Given the description of an element on the screen output the (x, y) to click on. 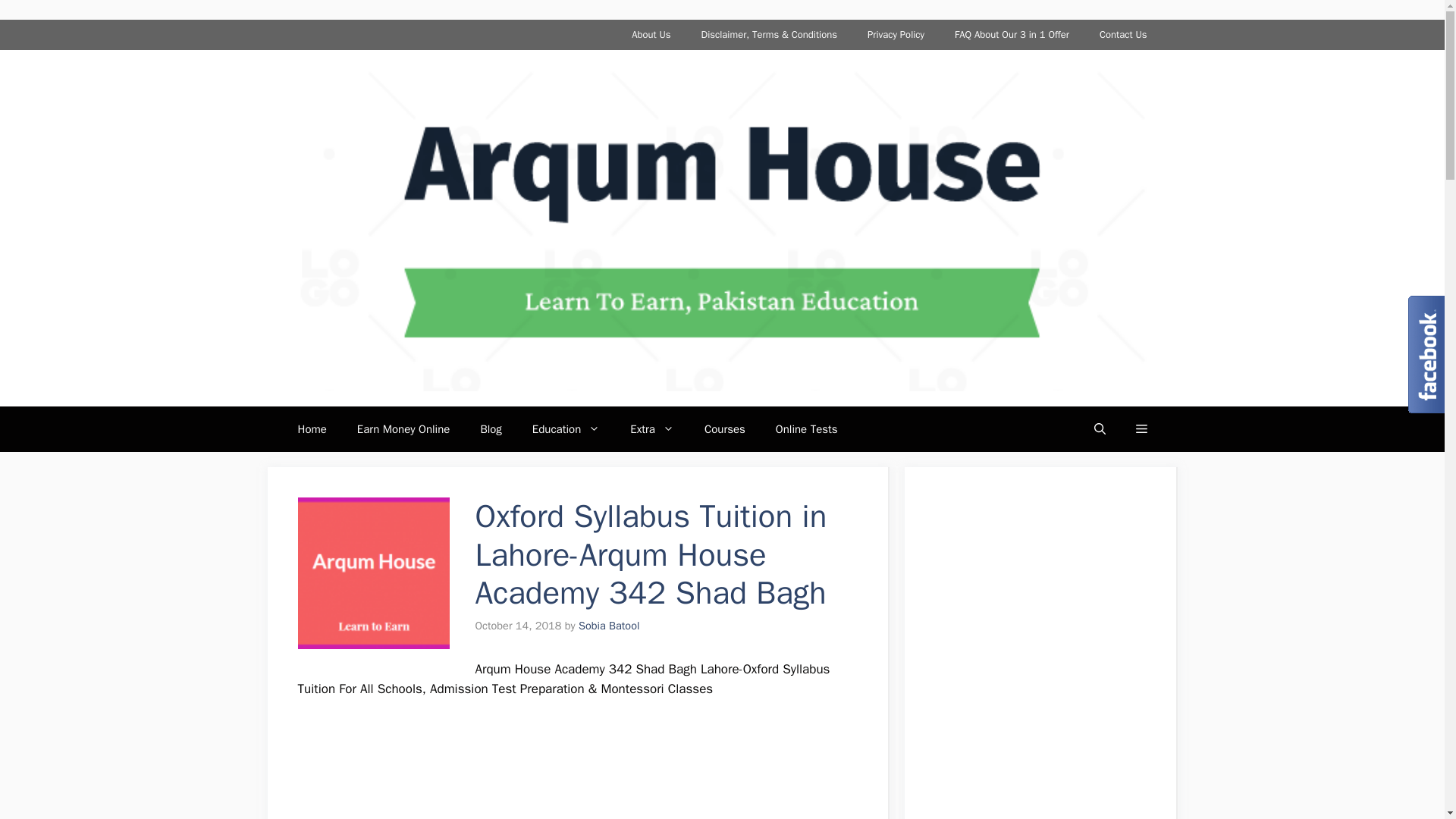
Sobia Batool (608, 625)
View all posts by Sobia Batool (608, 625)
Home (311, 429)
Privacy Policy (895, 34)
FAQ About Our 3 in 1 Offer (1011, 34)
Earn Money Online (403, 429)
Blog (490, 429)
Education (565, 429)
About Us (650, 34)
Advertisement (1031, 658)
Contact Us (1122, 34)
Courses (724, 429)
Online Tests (806, 429)
Extra (651, 429)
Advertisement (576, 768)
